Given the description of an element on the screen output the (x, y) to click on. 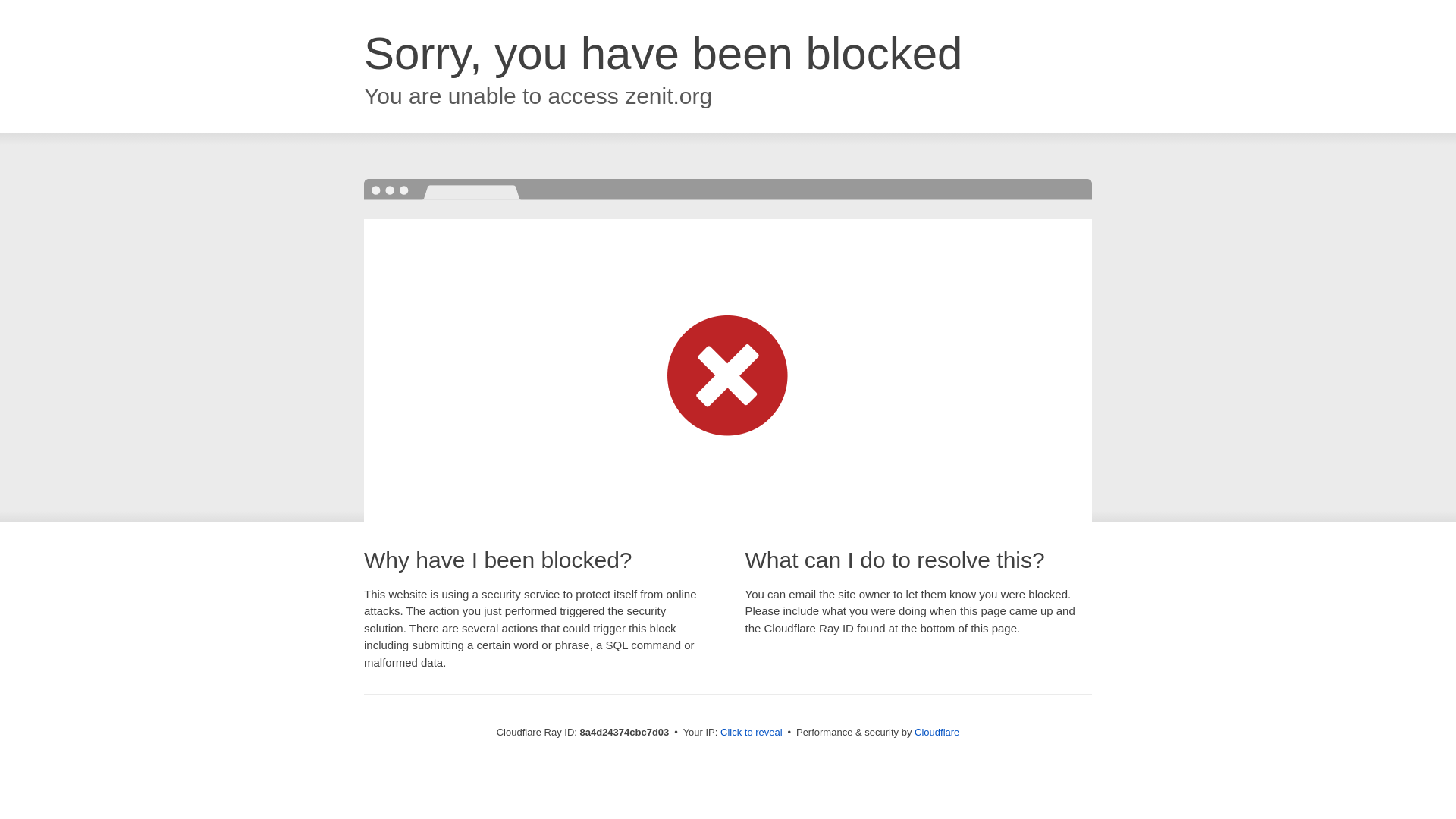
Cloudflare (936, 731)
Click to reveal (751, 732)
